Given the description of an element on the screen output the (x, y) to click on. 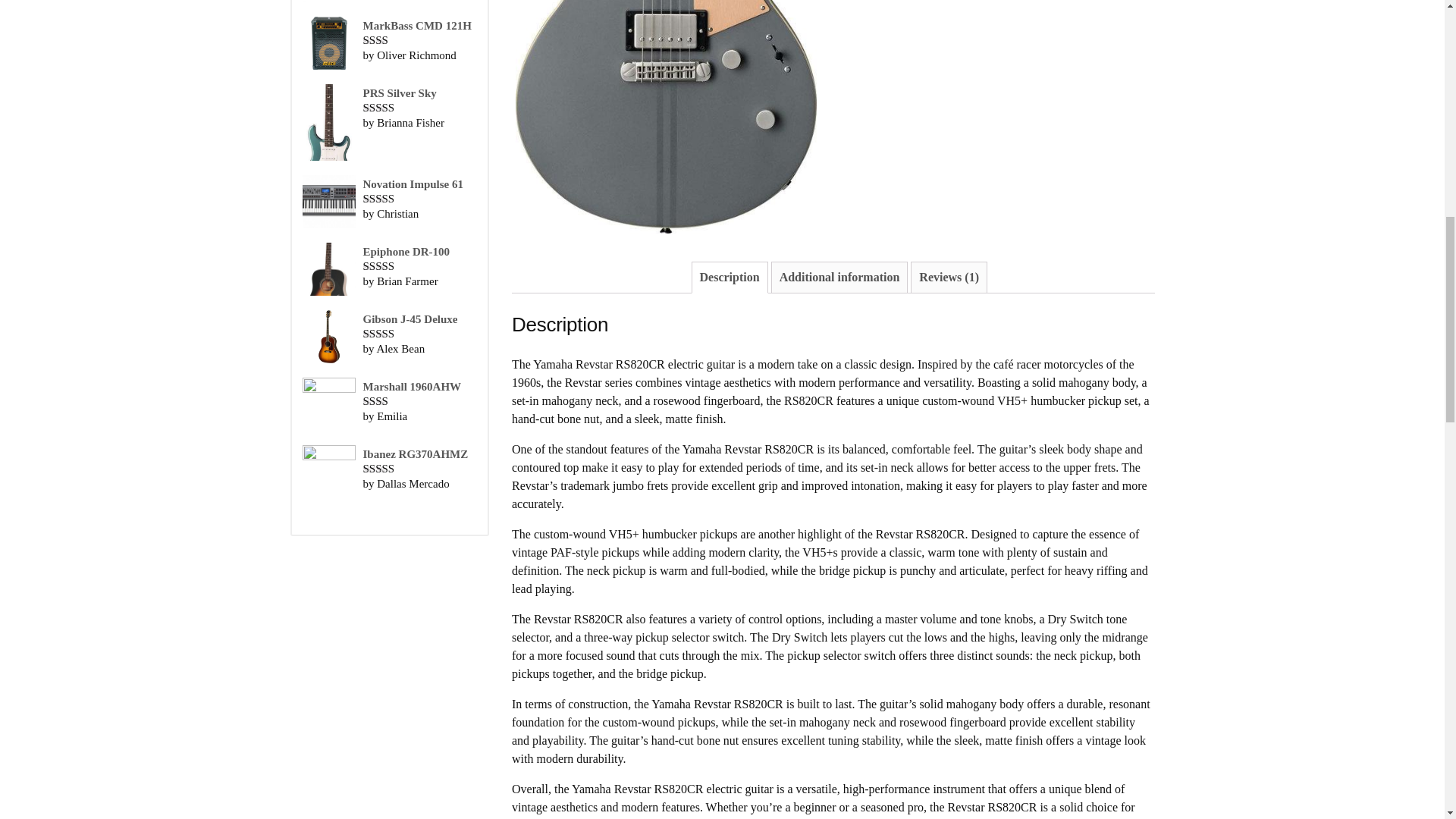
Yamaha-Revstar-RS820CR.jpg (666, 118)
